Given the description of an element on the screen output the (x, y) to click on. 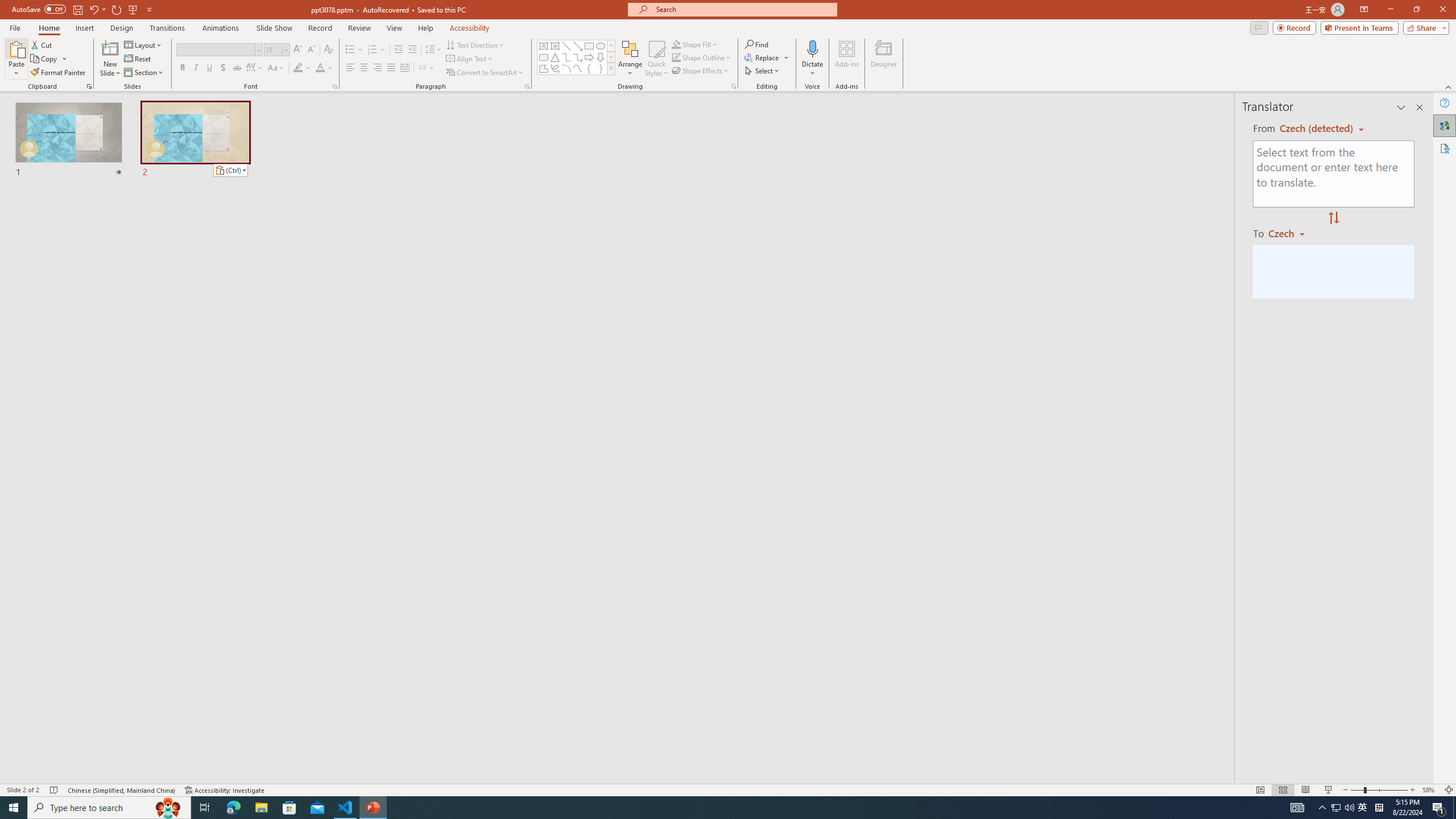
Czech (1291, 232)
